Given the description of an element on the screen output the (x, y) to click on. 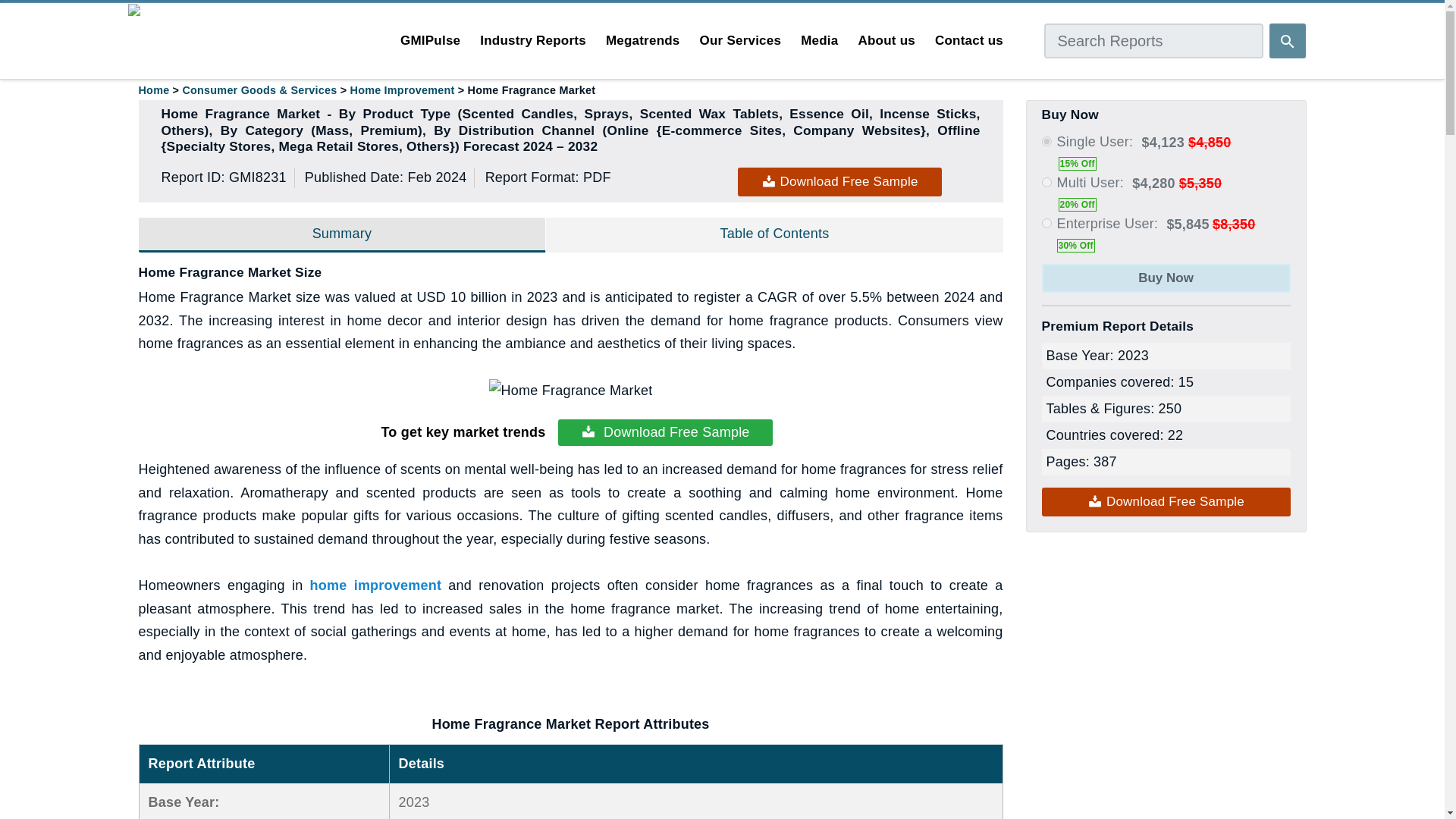
eugmp (1046, 223)
Home Fragrance Market Research Report (570, 390)
Logo (149, 14)
mugmp (1046, 182)
sugmp (1046, 141)
